Given the description of an element on the screen output the (x, y) to click on. 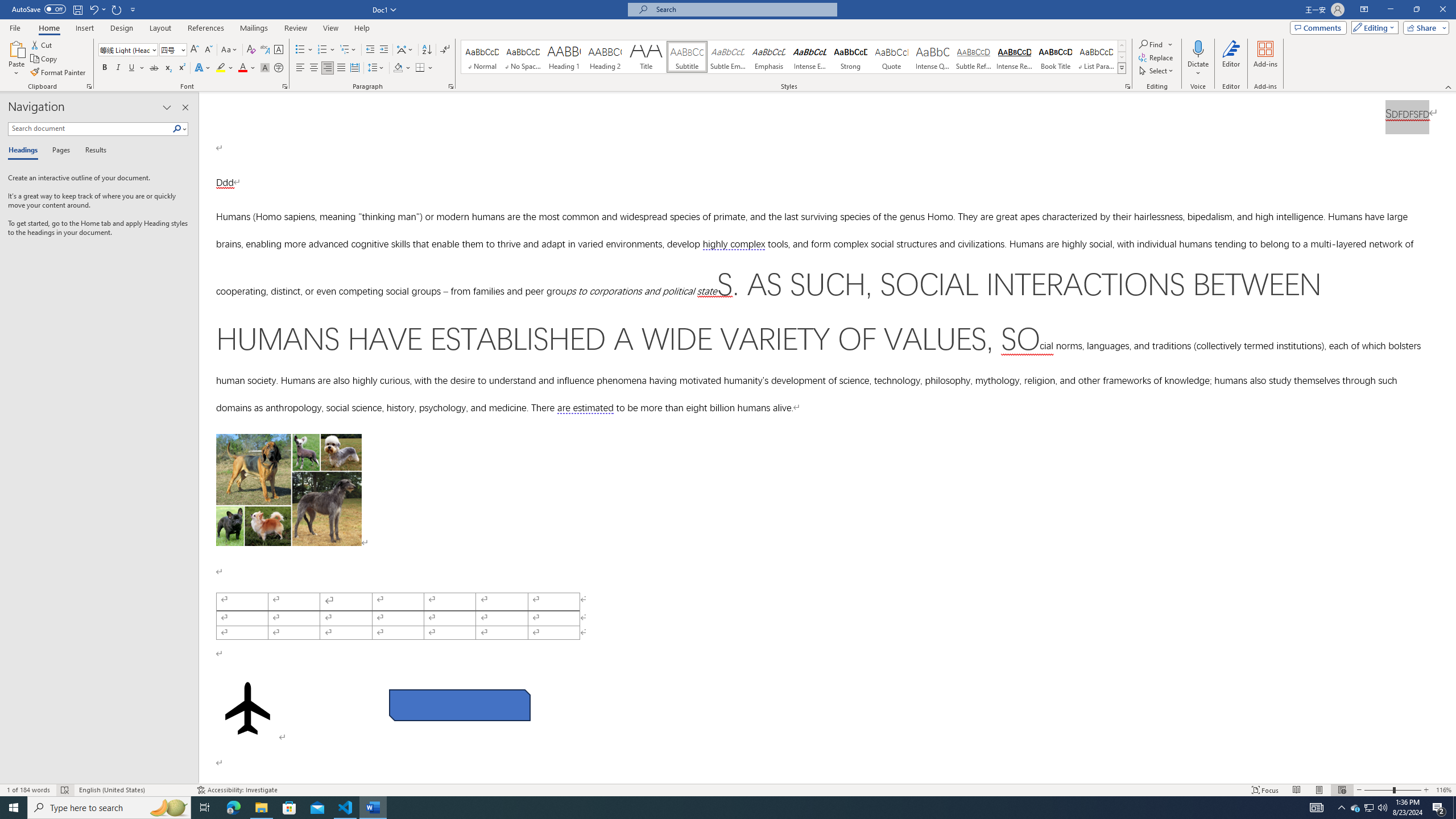
Change Case (229, 49)
Show/Hide Editing Marks (444, 49)
Distributed (354, 67)
Text Effects and Typography (202, 67)
Shading (402, 67)
Font Color (246, 67)
Align Right (327, 67)
